Given the description of an element on the screen output the (x, y) to click on. 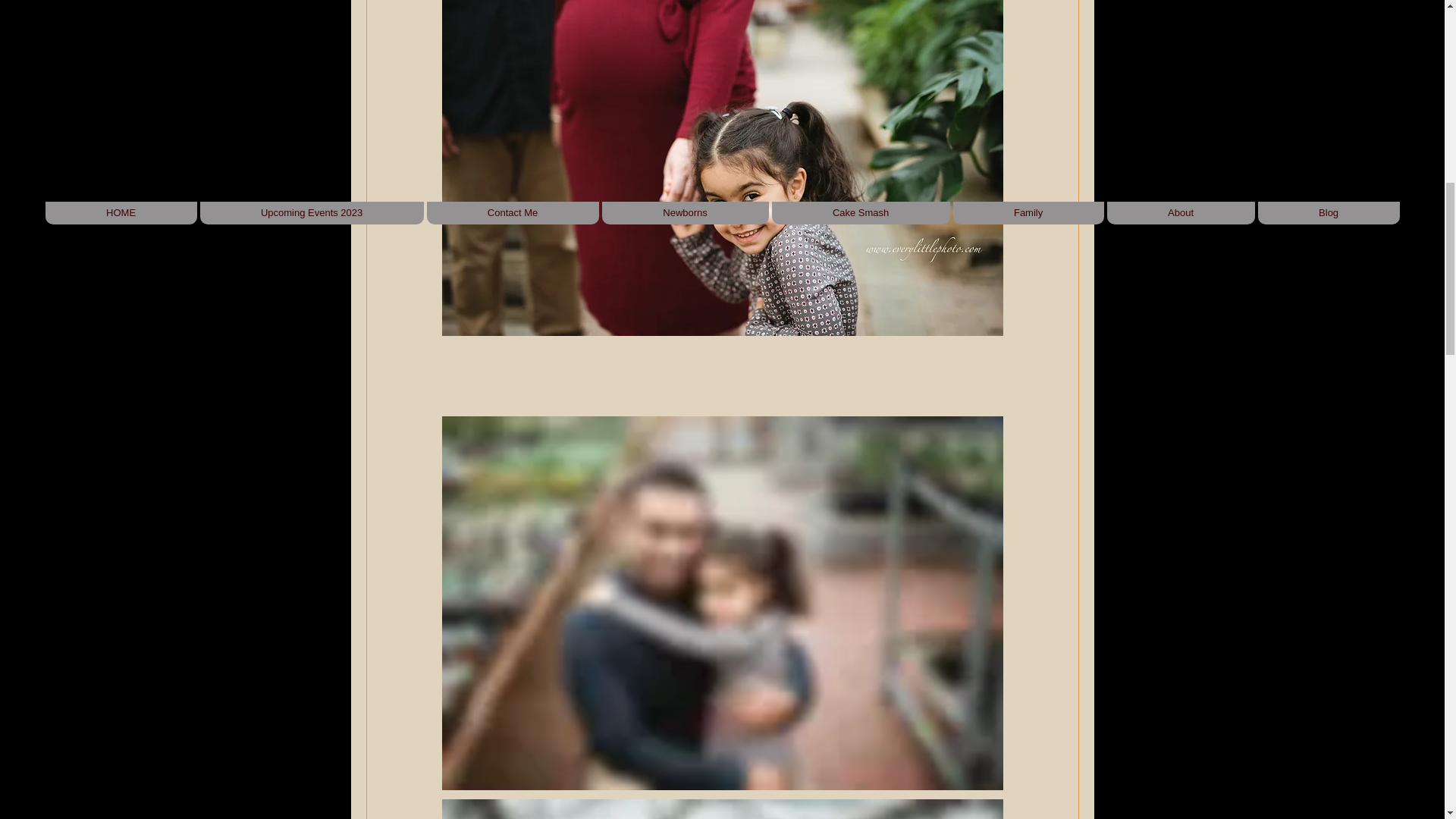
About (1180, 212)
Blog (1328, 212)
Cake Smash (860, 212)
Newborns (685, 212)
Family (1028, 212)
HOME (120, 212)
Upcoming Events 2023 (311, 212)
Contact Me (512, 212)
